Given the description of an element on the screen output the (x, y) to click on. 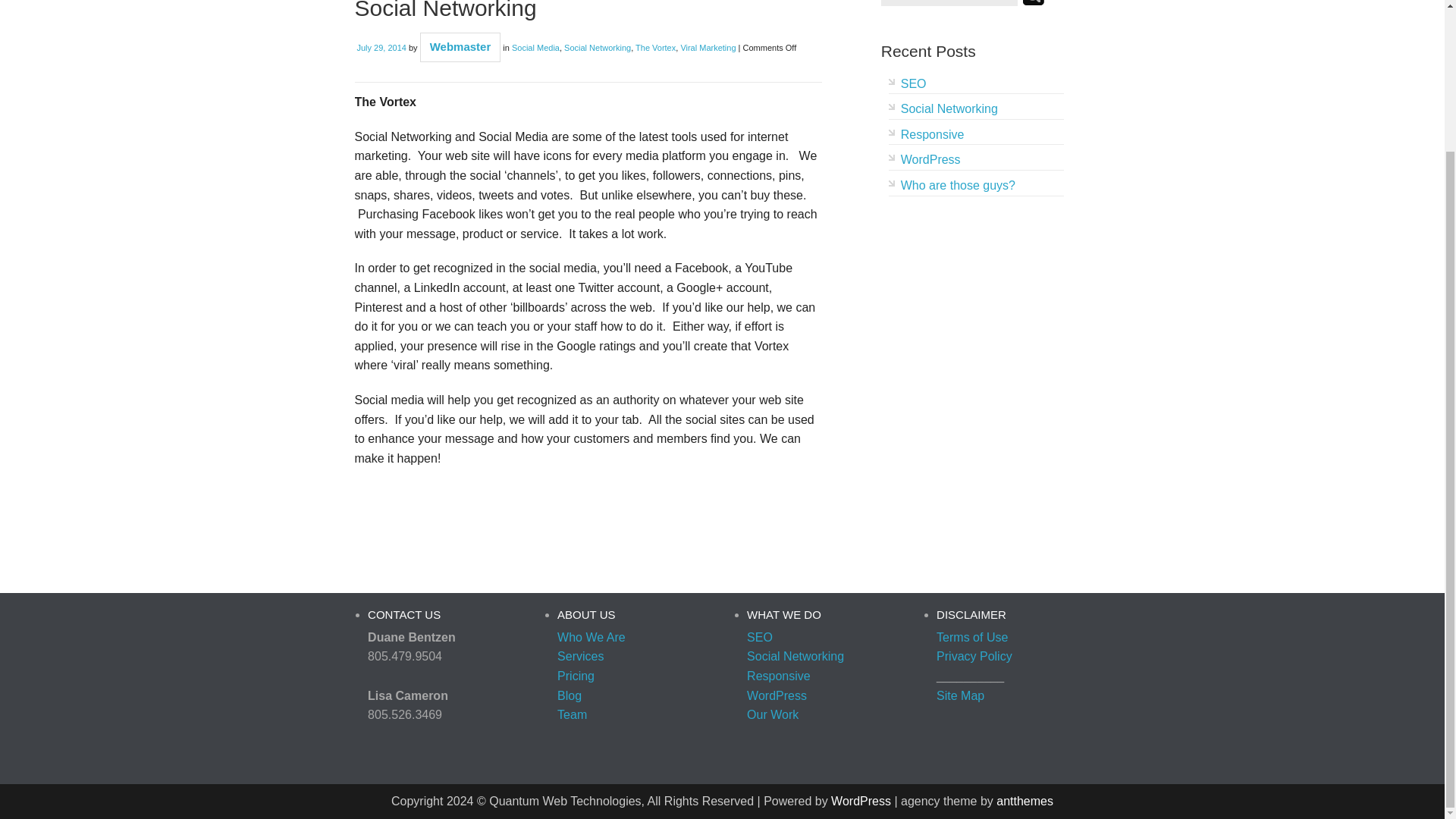
Blog (568, 695)
9:00 pm (381, 47)
Social Media (535, 47)
SEO (913, 83)
The Vortex (654, 47)
Webmaster (460, 46)
Social Networking (597, 47)
WordPress (776, 695)
antthemes (1023, 800)
Pricing (575, 675)
Responsive (932, 133)
Viral Marketing (707, 47)
search this site (950, 2)
Social Networking (795, 656)
Social Networking (446, 10)
